Given the description of an element on the screen output the (x, y) to click on. 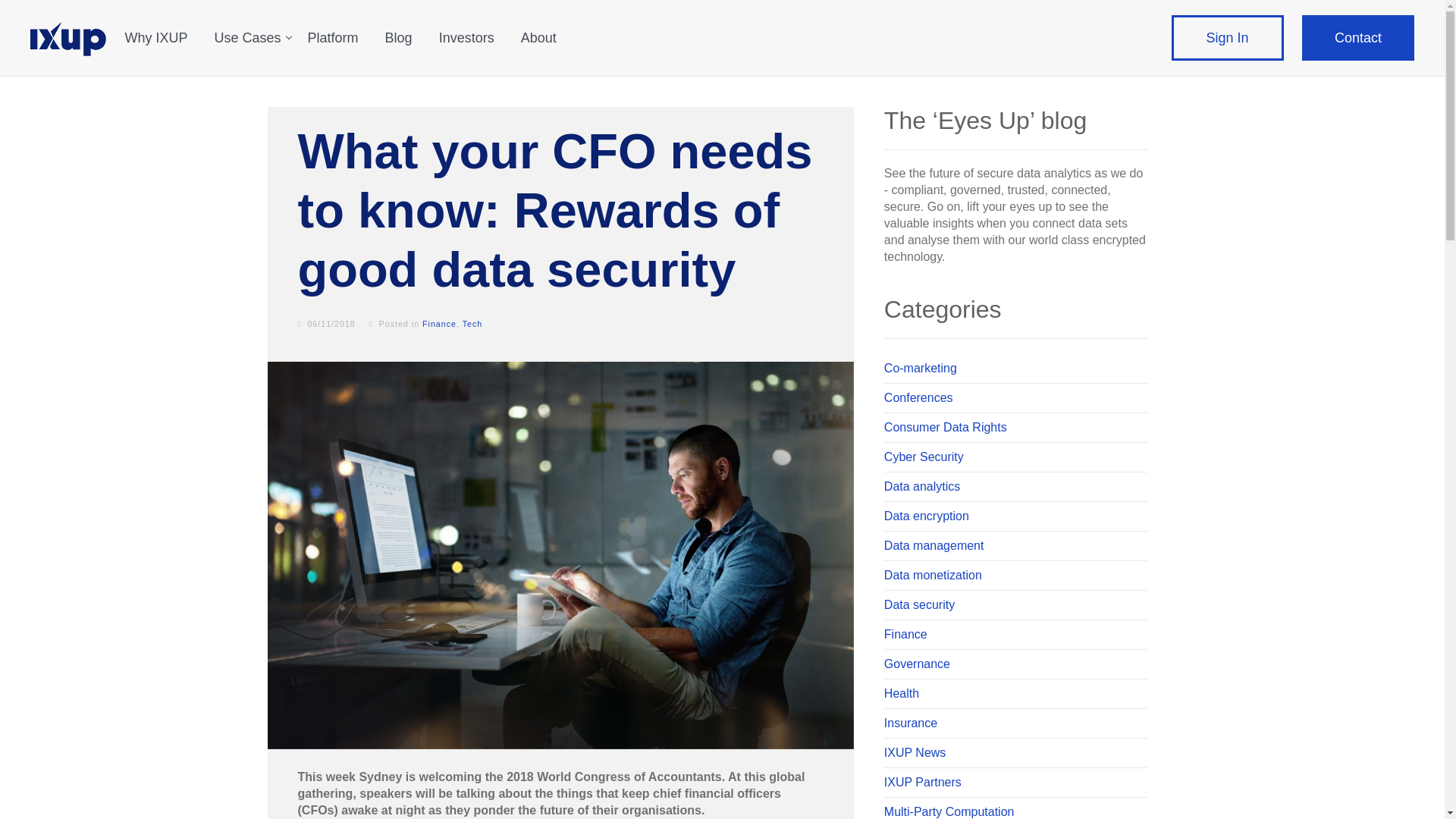
Finance (439, 323)
Cyber Security (1015, 457)
Why IXUP (160, 49)
Data security (1015, 604)
Contact (1357, 37)
Insurance (1015, 723)
Data management (1015, 546)
Governance (1015, 664)
Platform (338, 49)
Investors (472, 49)
Co-marketing (1015, 368)
IXUP News (1015, 753)
Conferences (1015, 398)
Health (1015, 694)
Use Cases (253, 49)
